Given the description of an element on the screen output the (x, y) to click on. 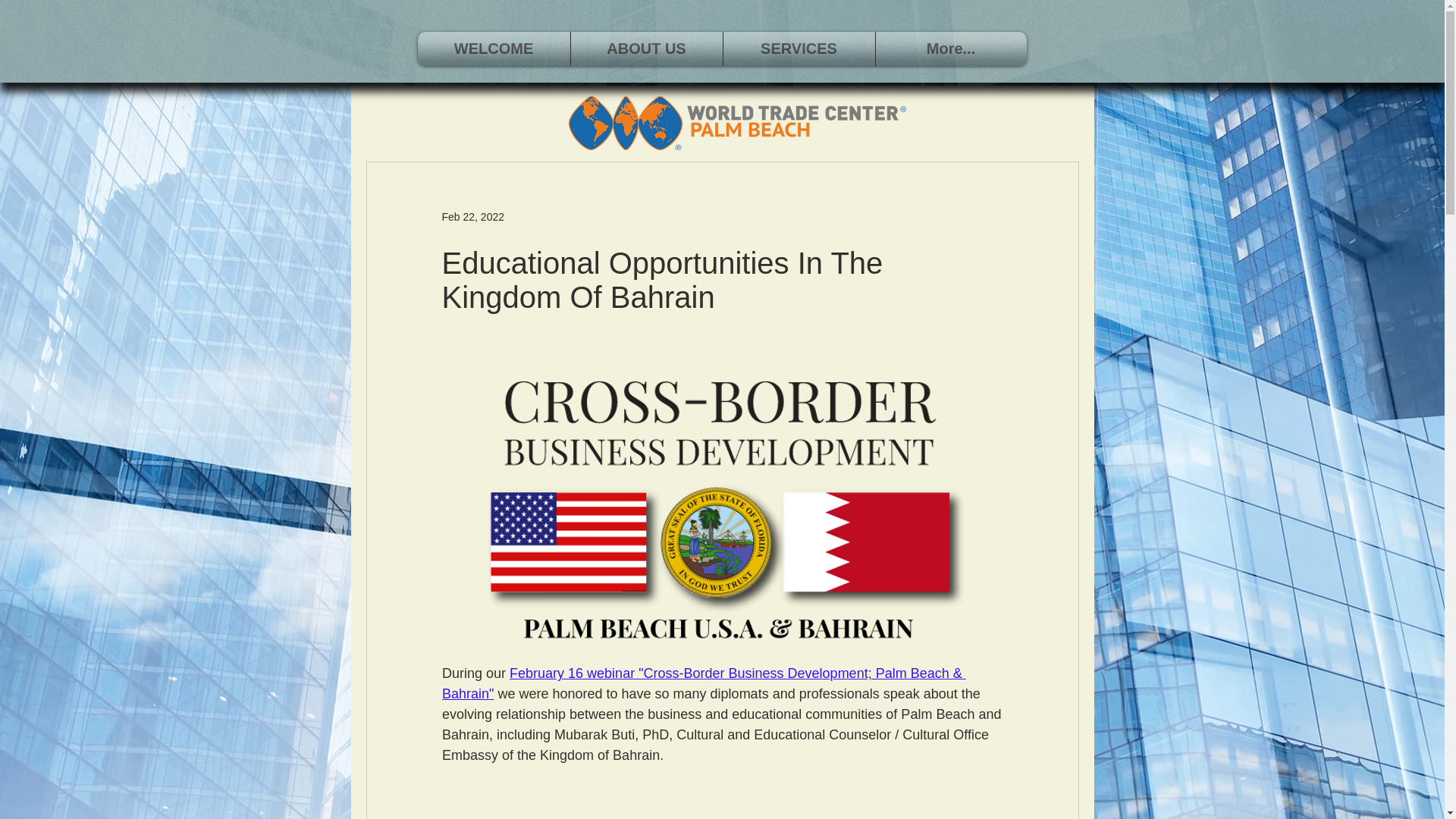
WELCOME (494, 48)
ABOUT US (647, 48)
ricos-video (722, 803)
Feb 22, 2022 (472, 216)
SERVICES (798, 48)
